Given the description of an element on the screen output the (x, y) to click on. 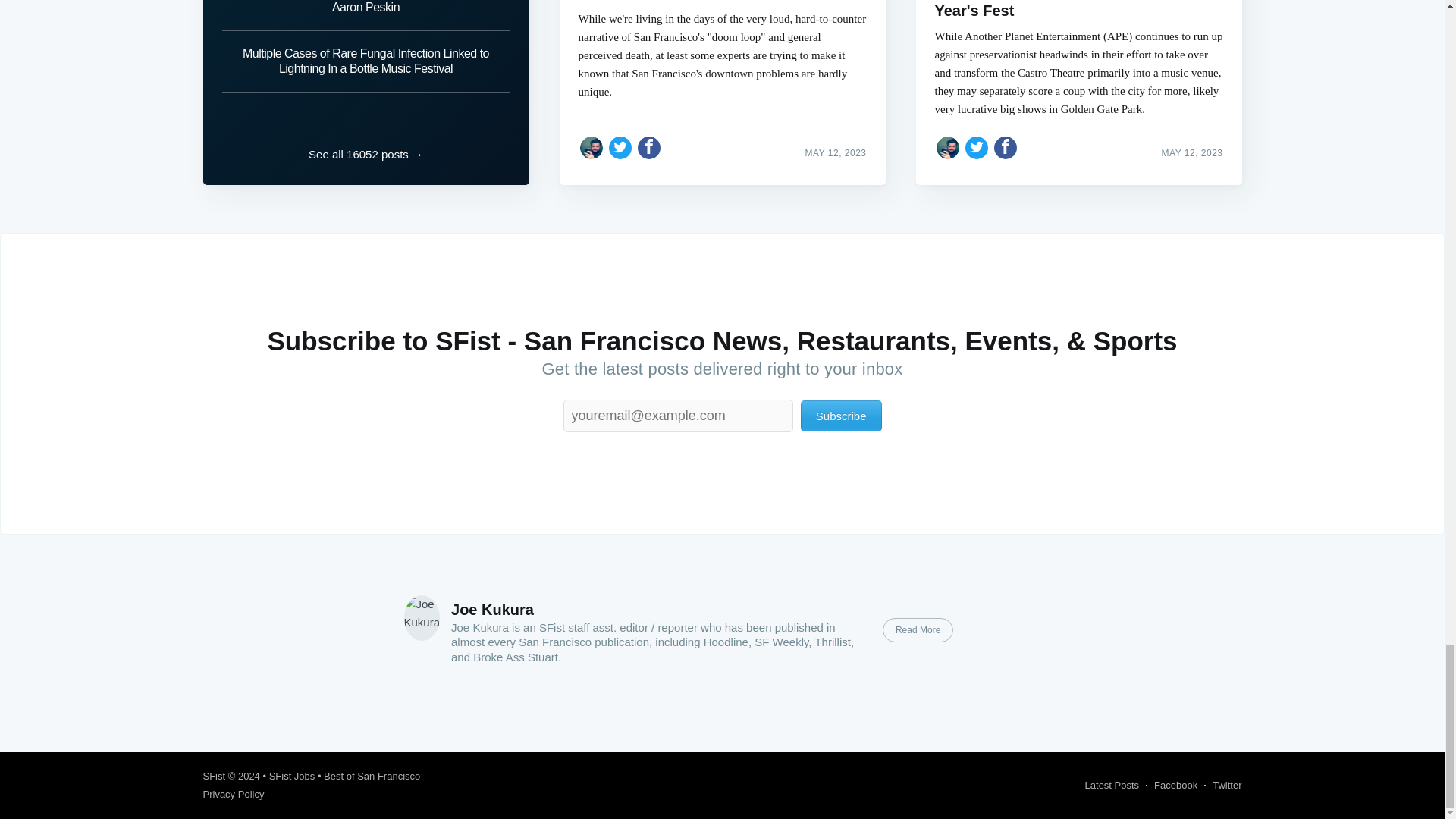
Share on Twitter (620, 147)
Share on Facebook (1004, 147)
Share on Facebook (649, 147)
Share on Twitter (976, 147)
